Given the description of an element on the screen output the (x, y) to click on. 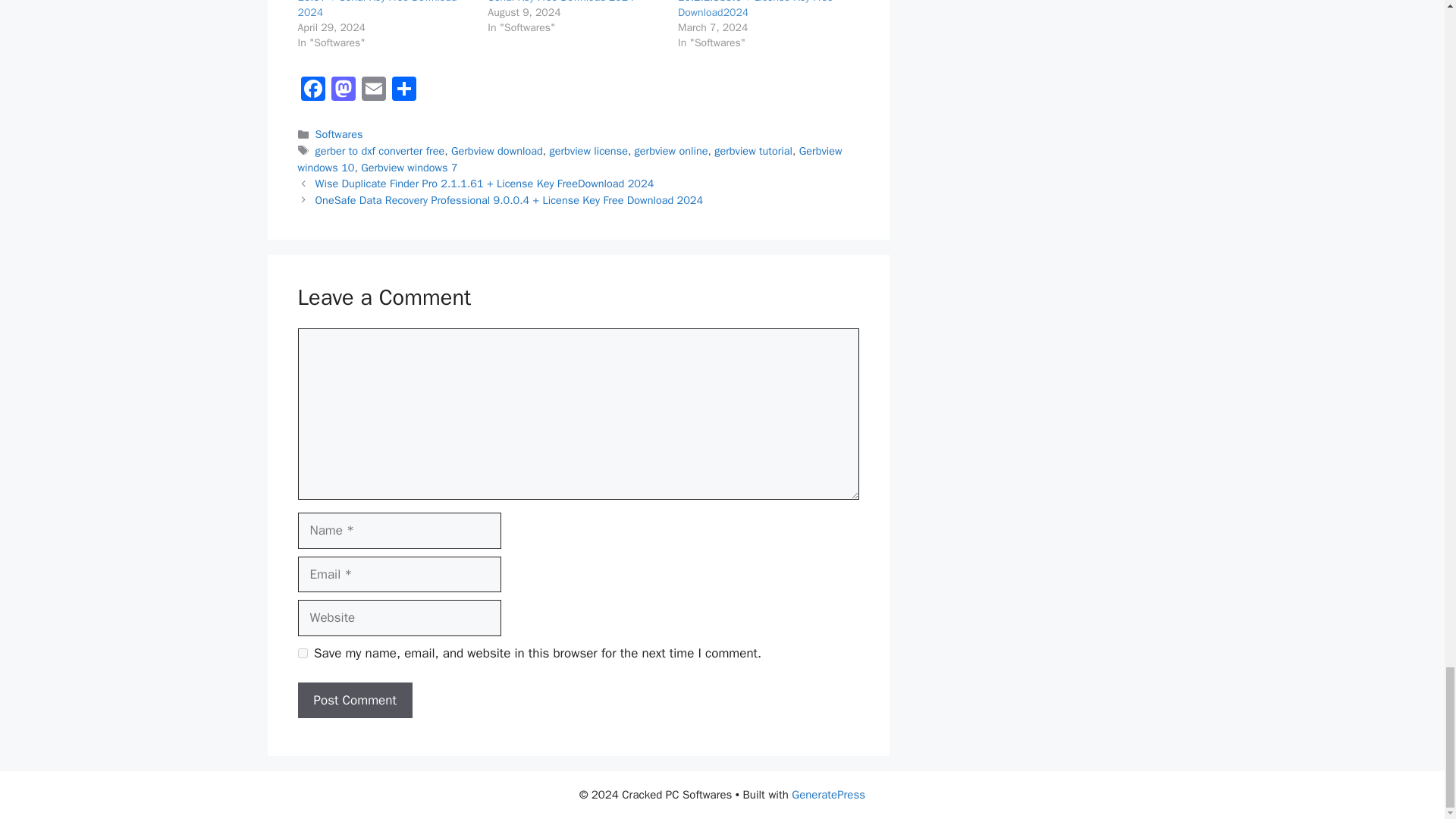
Gerbview windows 10 (569, 159)
Email (373, 90)
gerbview license (587, 151)
gerbview tutorial (753, 151)
gerber to dxf converter free (380, 151)
Gerbview windows 7 (409, 167)
Post Comment (354, 700)
Facebook (312, 90)
Softwares (338, 133)
yes (302, 653)
